Given the description of an element on the screen output the (x, y) to click on. 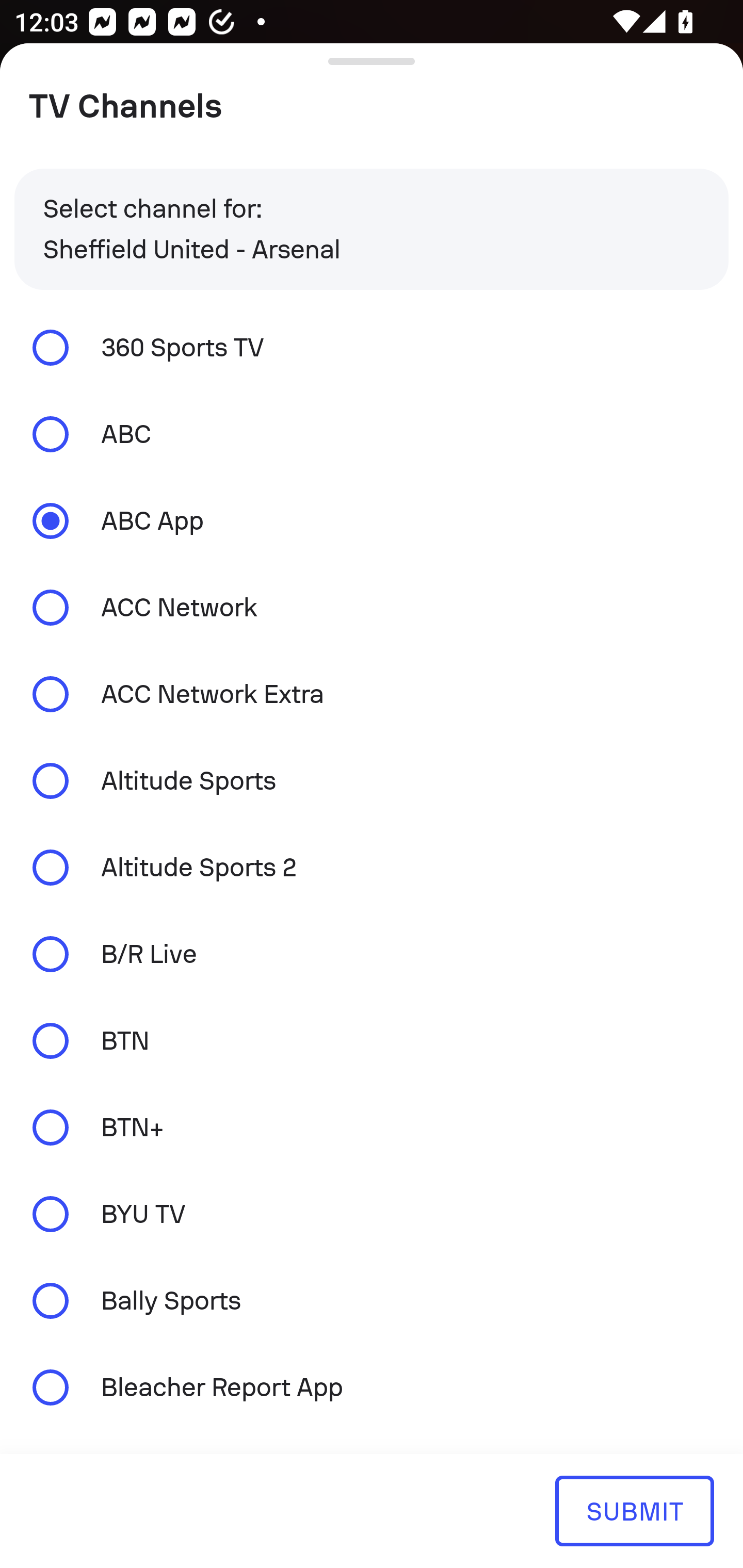
360 Sports TV (371, 347)
ABC (371, 434)
ABC App (371, 521)
ACC Network (371, 607)
ACC Network Extra (371, 693)
Altitude Sports (371, 780)
Altitude Sports 2 (371, 867)
B/R Live (371, 954)
BTN (371, 1040)
BTN+ (371, 1127)
BYU TV (371, 1214)
Bally Sports (371, 1300)
Bleacher Report App (371, 1386)
SUBMIT (634, 1510)
